Given the description of an element on the screen output the (x, y) to click on. 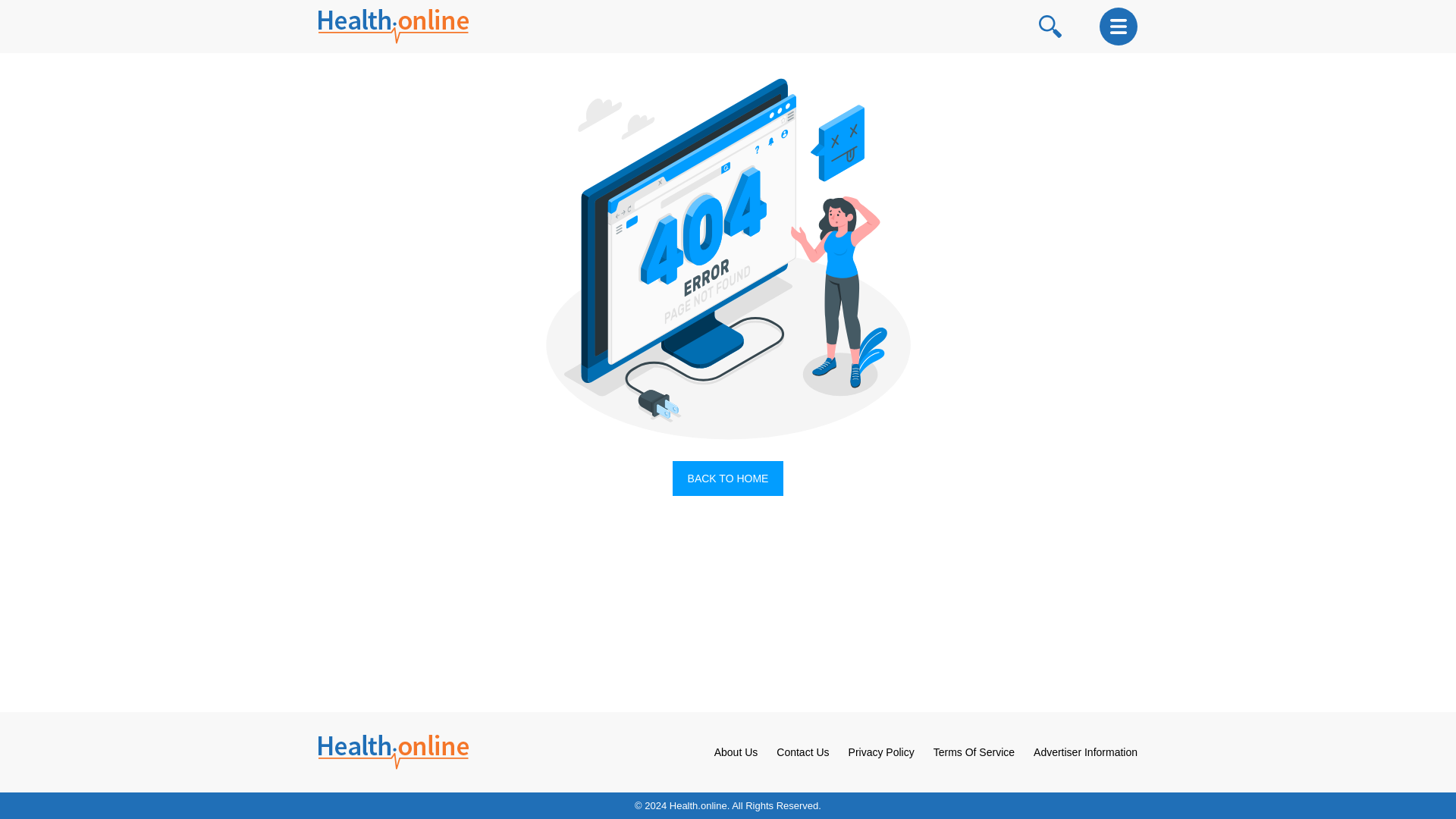
Terms Of Service (973, 752)
About Us (736, 752)
Privacy Policy (881, 752)
Contact Us (802, 752)
BACK TO HOME (728, 478)
Advertiser Information (1085, 752)
